Given the description of an element on the screen output the (x, y) to click on. 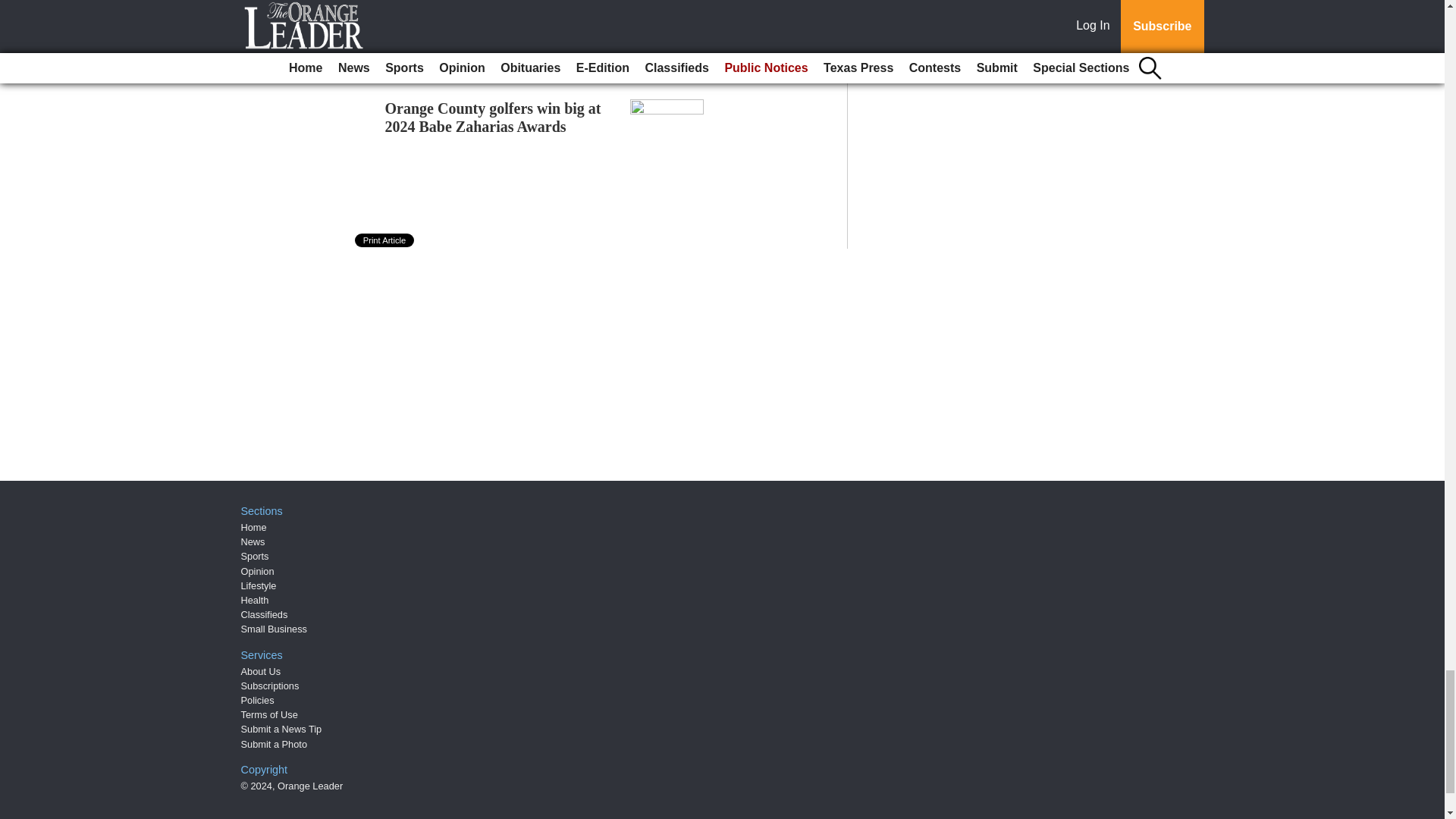
Home (253, 527)
Orange County golfers win big at 2024 Babe Zaharias Awards (493, 117)
Orange County golfers win big at 2024 Babe Zaharias Awards (493, 117)
Print Article (384, 240)
News (252, 541)
Sports (255, 555)
